Given the description of an element on the screen output the (x, y) to click on. 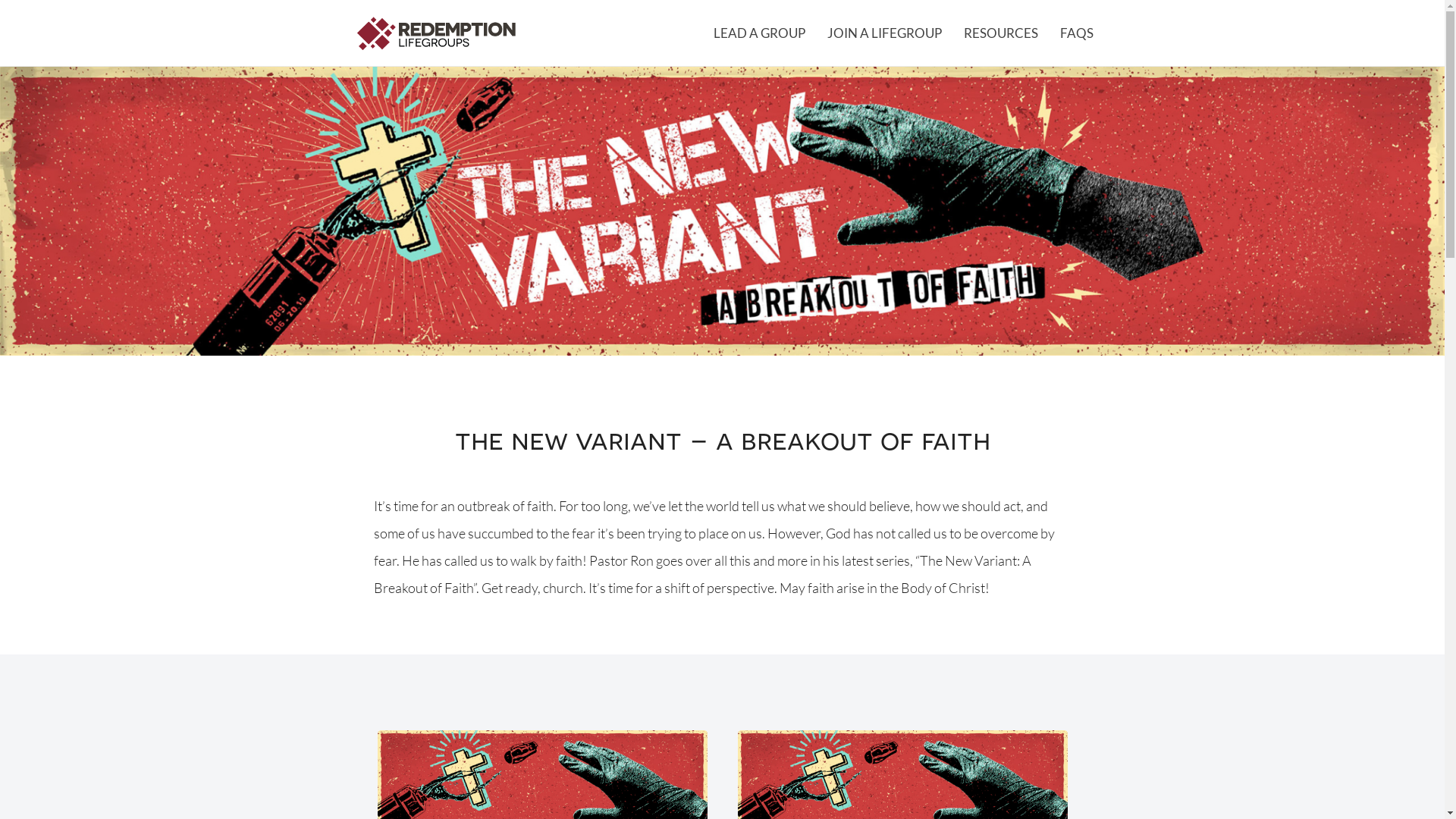
LEAD A GROUP Element type: text (759, 33)
RESOURCES Element type: text (1000, 33)
FAQS Element type: text (1076, 33)
JOIN A LIFEGROUP Element type: text (884, 33)
